Given the description of an element on the screen output the (x, y) to click on. 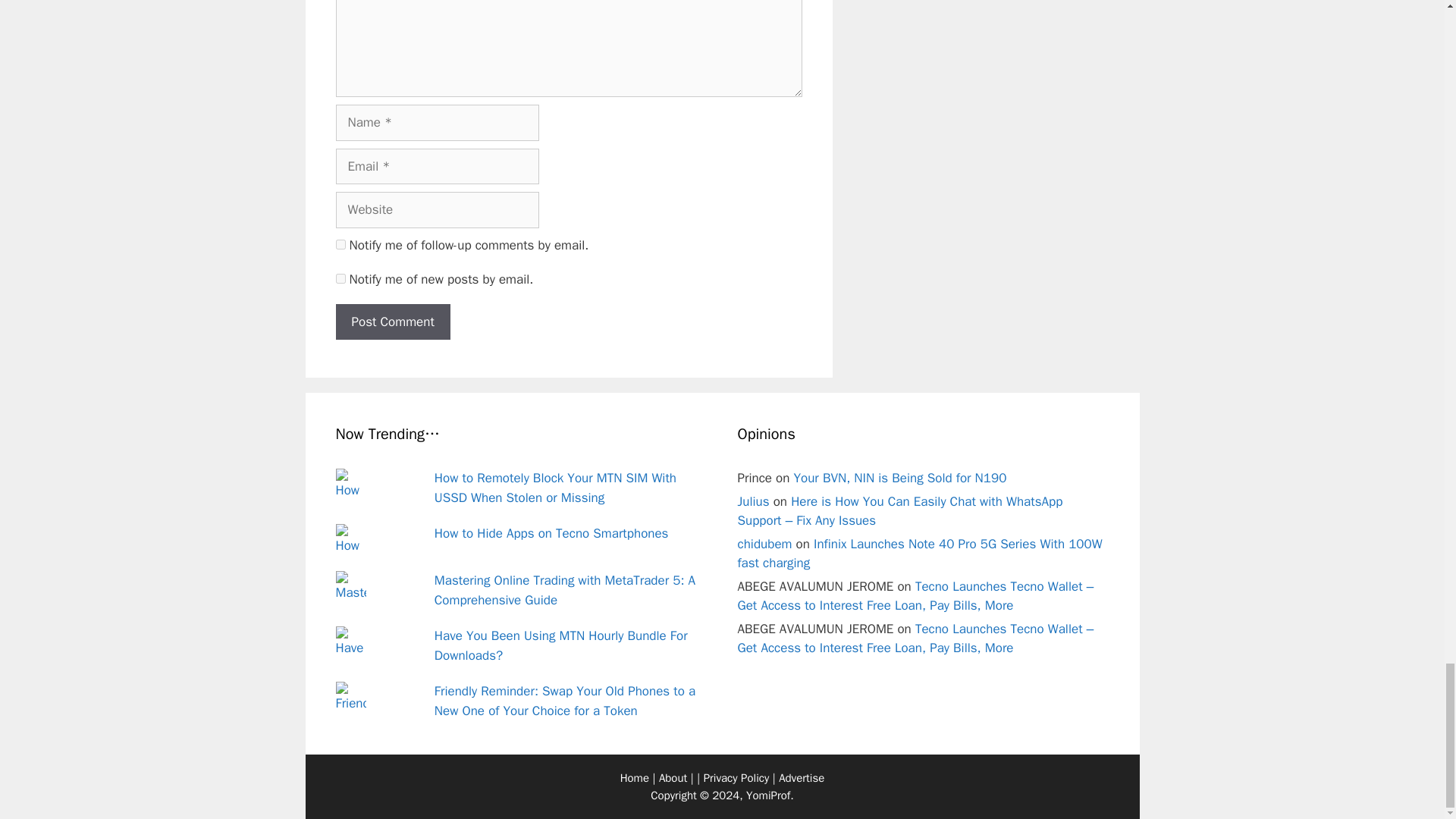
subscribe (339, 278)
subscribe (339, 244)
Post Comment (391, 321)
